Given the description of an element on the screen output the (x, y) to click on. 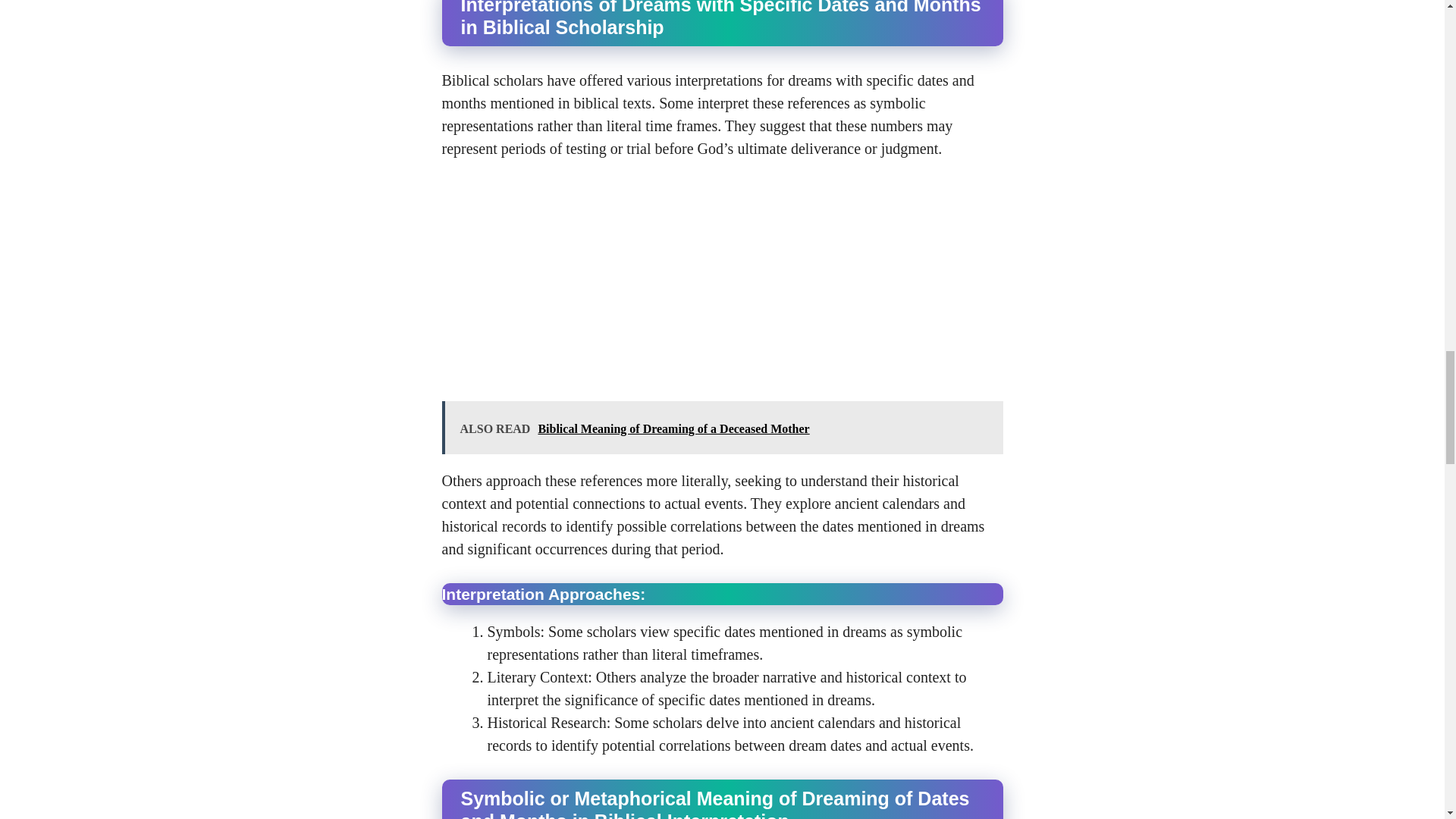
ALSO READ  Biblical Meaning of Dreaming of a Deceased Mother (722, 426)
